Given the description of an element on the screen output the (x, y) to click on. 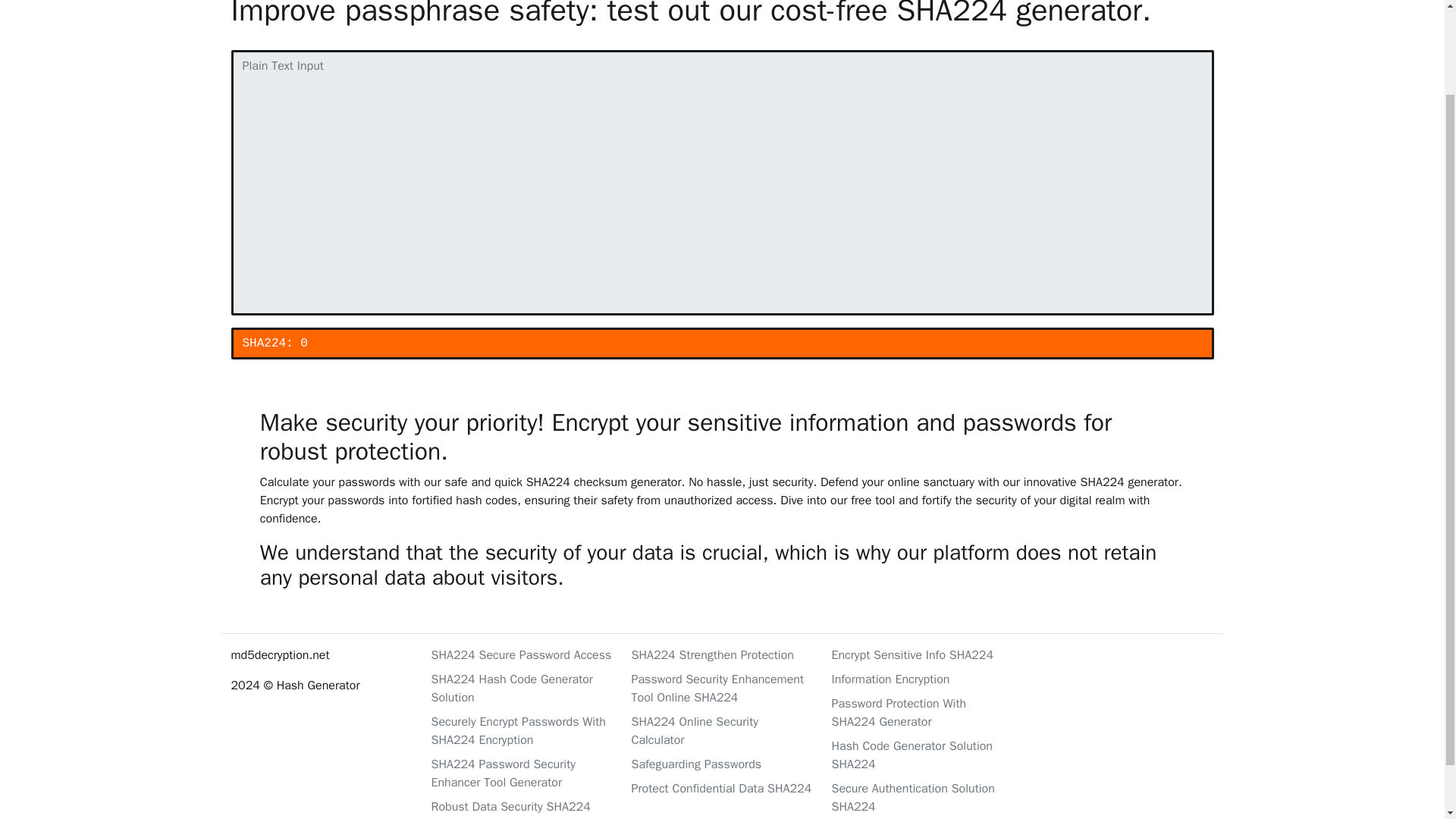
Safeguarding Passwords (721, 764)
SHA224 Online Security Calculator (721, 730)
Password Security Enhancement Tool Online SHA224 (721, 688)
Robust Data Security SHA224 (521, 806)
SHA224 Strengthen Protection (721, 655)
Protect Confidential Data SHA224 (721, 788)
SHA224: 0 (721, 343)
SHA224 Hash Code Generator Solution (521, 688)
md5decryption.net (321, 655)
Information Encryption (922, 679)
Secure Authentication Solution SHA224 (922, 797)
Encrypt Sensitive Info SHA224 (922, 655)
SHA224 Password Security Enhancer Tool Generator (521, 773)
Securely Encrypt Passwords With SHA224 Encryption (521, 730)
Hash Code Generator Solution SHA224 (922, 755)
